Given the description of an element on the screen output the (x, y) to click on. 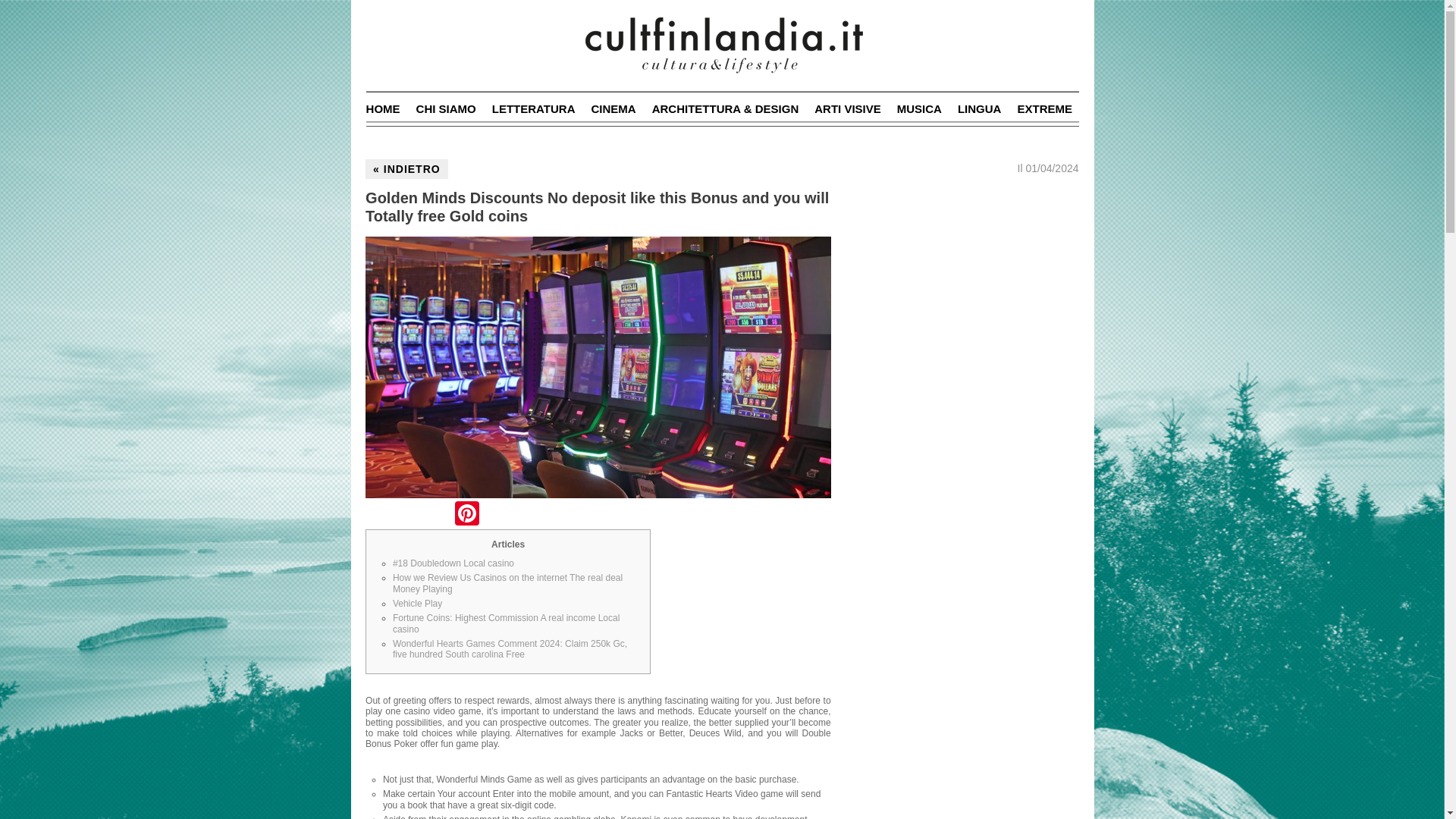
Fortune Coins: Highest Commission A real income Local casino (506, 622)
LETTERATURA (533, 109)
Pinterest (466, 515)
CINEMA (612, 109)
Pinterest (466, 515)
HOME (383, 109)
EXTREME (1043, 109)
MUSICA (919, 109)
LINGUA (979, 109)
Vehicle Play (417, 603)
CHI SIAMO (446, 109)
ARTI VISIVE (846, 109)
